Given the description of an element on the screen output the (x, y) to click on. 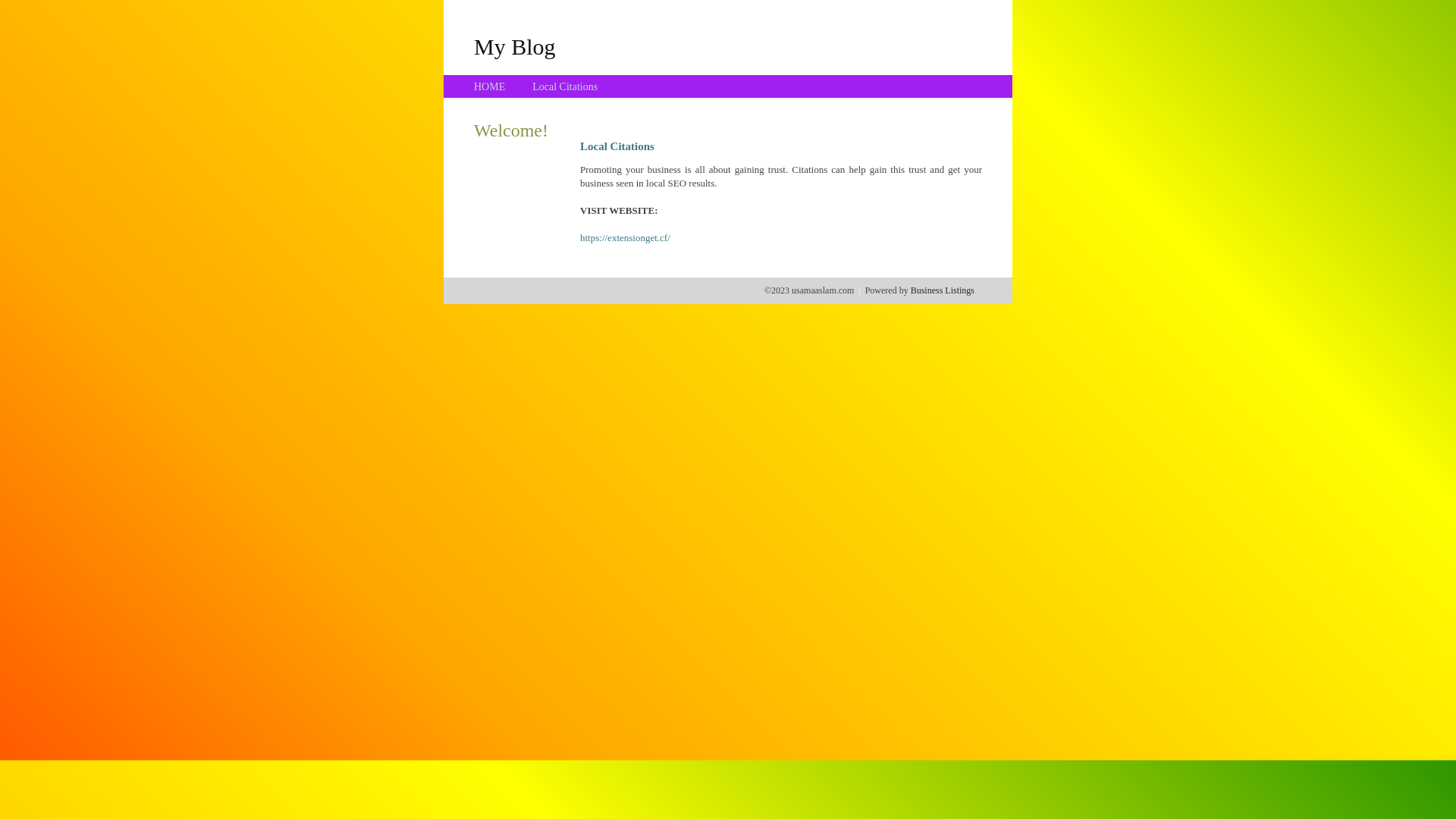
HOME Element type: text (489, 86)
Local Citations Element type: text (564, 86)
Business Listings Element type: text (942, 290)
https://extensionget.cf/ Element type: text (625, 237)
My Blog Element type: text (514, 46)
